Given the description of an element on the screen output the (x, y) to click on. 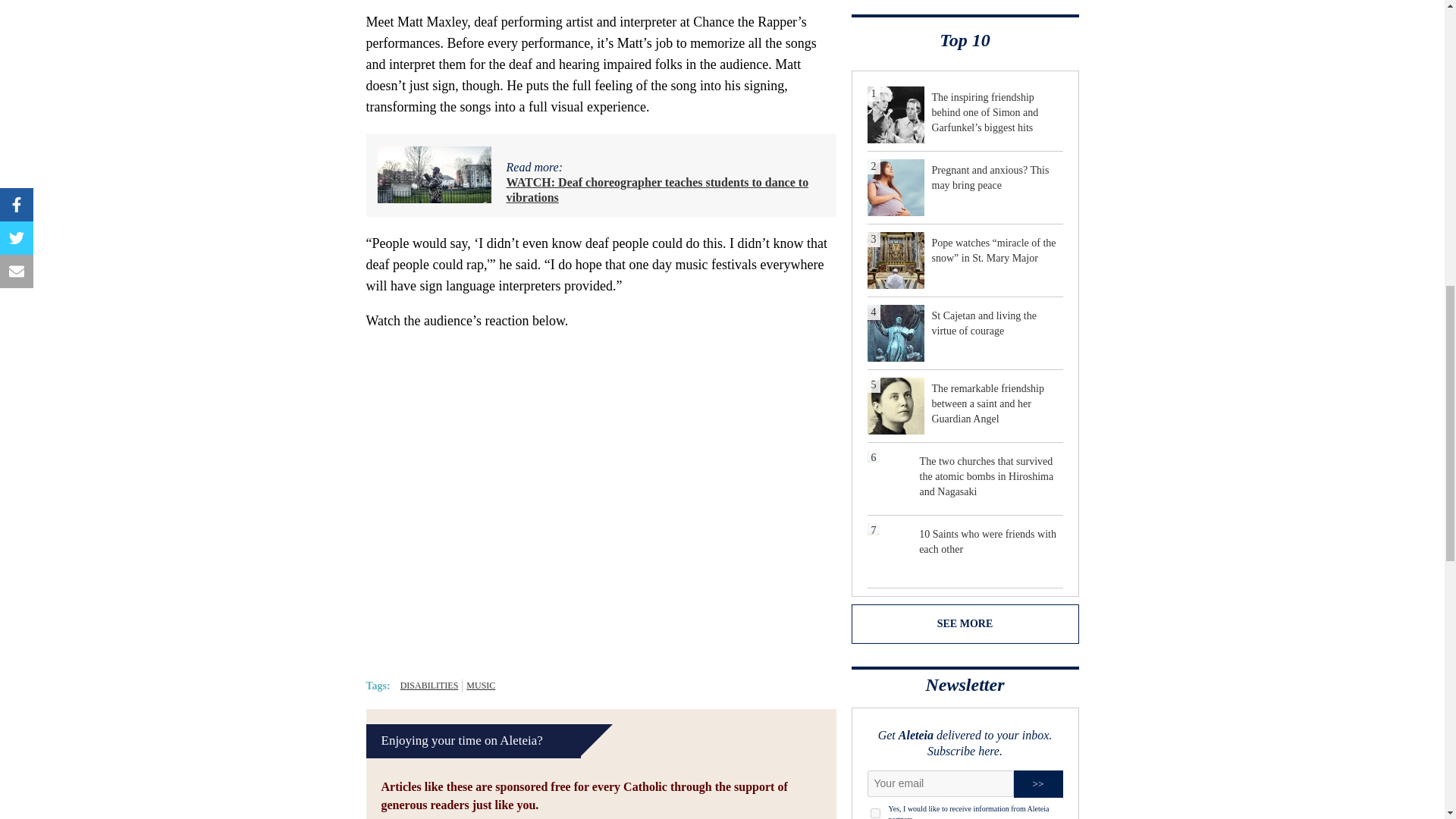
1 (875, 813)
DISABILITIES (429, 685)
